Given the description of an element on the screen output the (x, y) to click on. 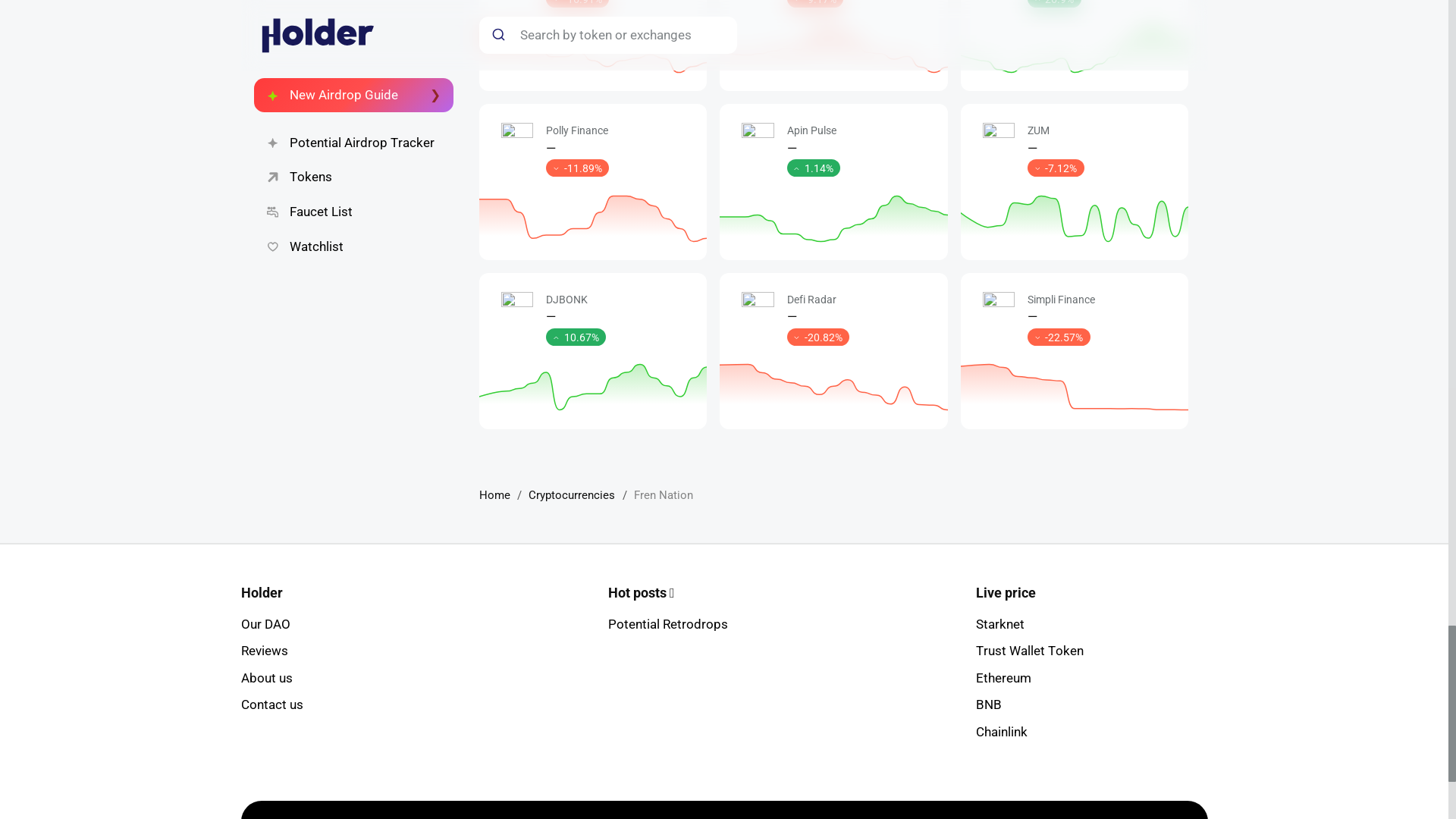
Our DAO (265, 623)
About us (266, 677)
Cryptocurrencies (571, 495)
Home (495, 495)
Reviews (264, 650)
